Given the description of an element on the screen output the (x, y) to click on. 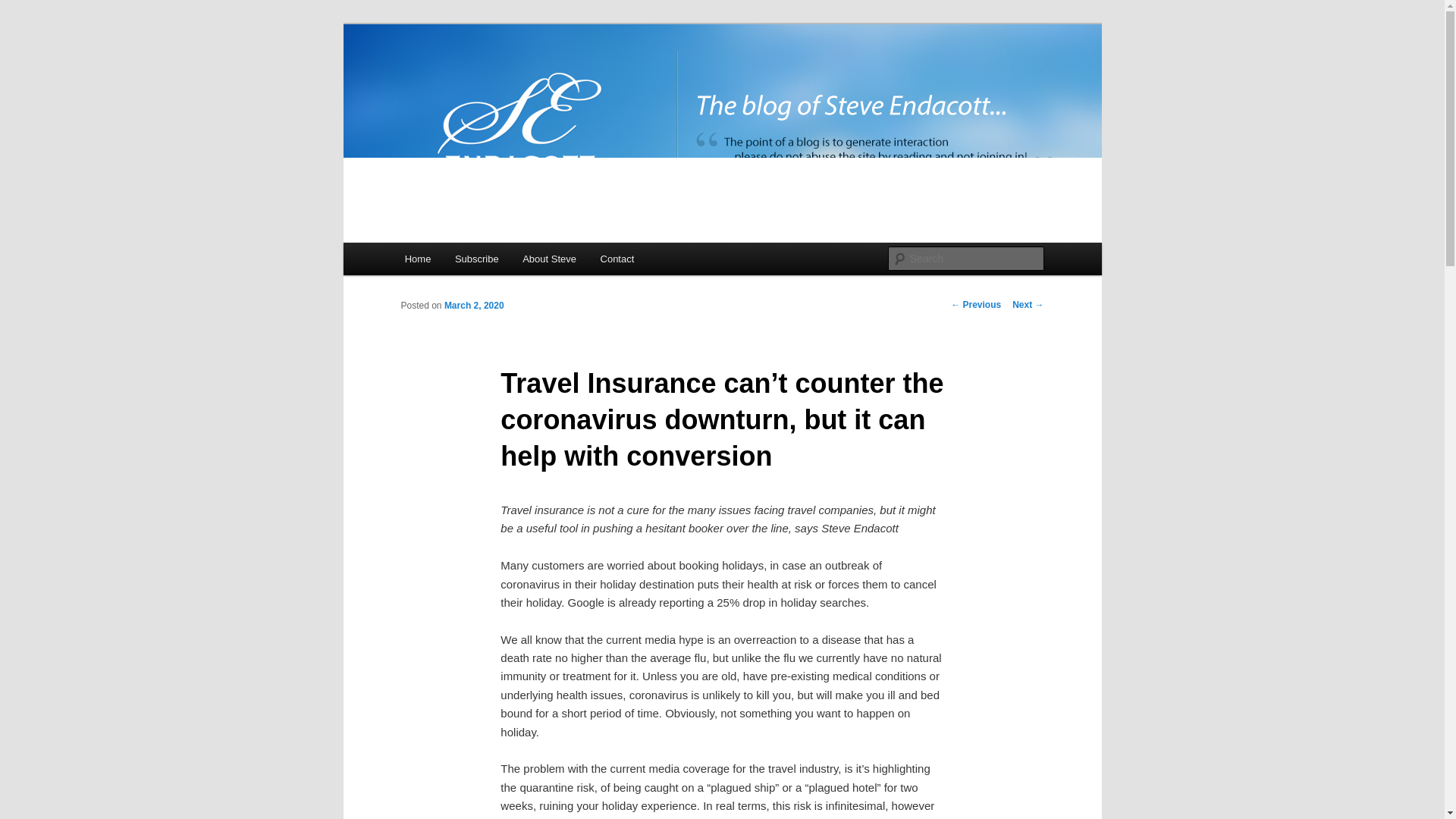
Skip to primary content (472, 261)
Skip to secondary content (479, 261)
Skip to primary content (472, 261)
Home (417, 258)
Steve Endacott Blog (510, 78)
March 2, 2020 (473, 305)
Contact (617, 258)
Steve Endacott Blog (510, 78)
About Steve (549, 258)
Skip to secondary content (479, 261)
Search (24, 8)
Subscribe (476, 258)
9:37 pm (473, 305)
